Given the description of an element on the screen output the (x, y) to click on. 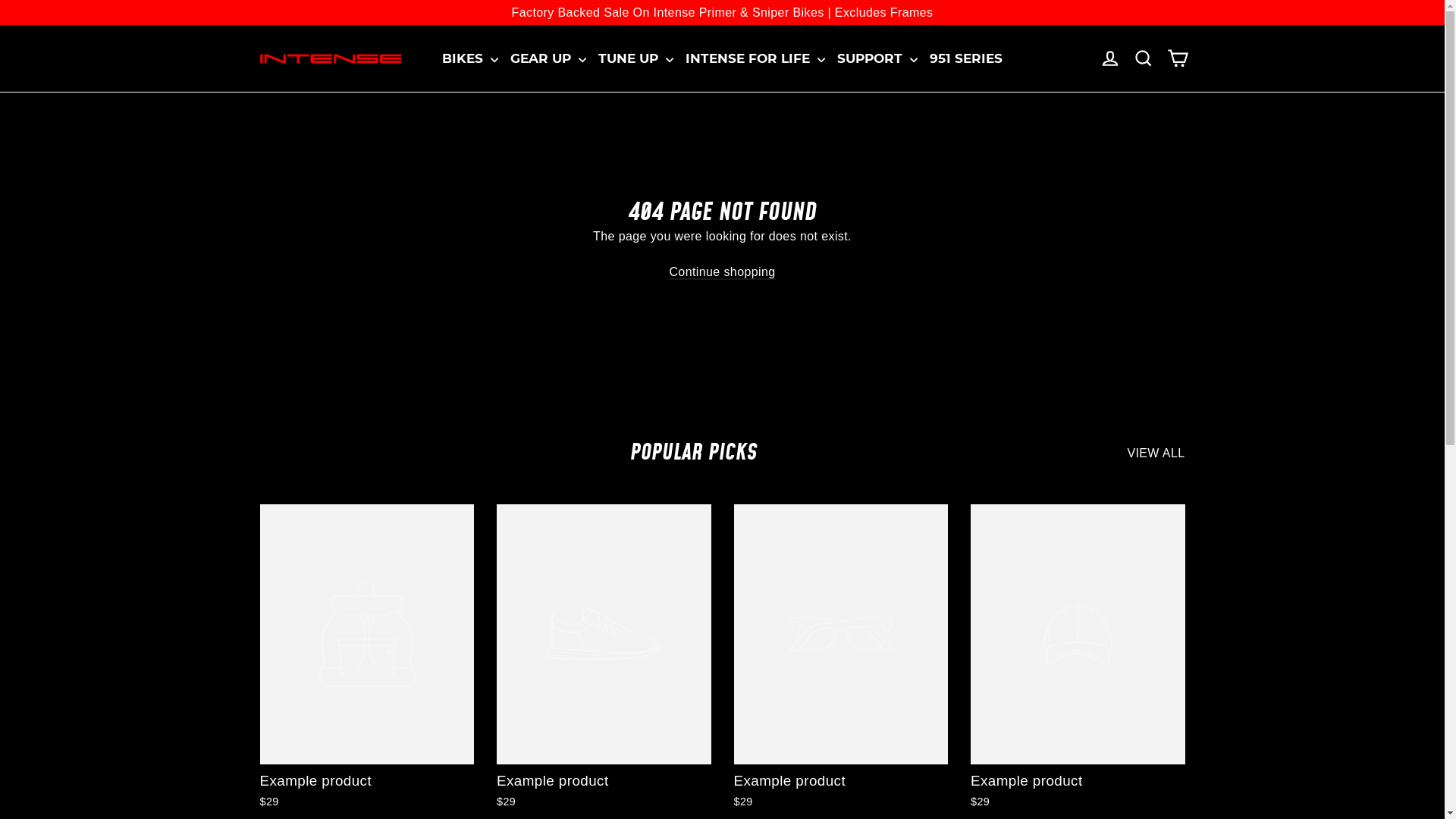
BIKES Element type: text (470, 58)
951 SERIES Element type: text (965, 58)
Example product
$29 Element type: text (366, 658)
SEARCH Element type: text (1143, 58)
INTENSE FOR LIFE Element type: text (755, 58)
Example product
$29 Element type: text (603, 658)
VIEW ALL Element type: text (1155, 450)
Continue shopping Element type: text (721, 272)
SUPPORT Element type: text (877, 58)
Example product
$29 Element type: text (1077, 658)
LOG IN Element type: text (1109, 58)
CART Element type: text (1176, 58)
TUNE UP Element type: text (635, 58)
GEAR UP Element type: text (548, 58)
Skip to content Element type: text (0, 0)
Example product
$29 Element type: text (841, 658)
